Given the description of an element on the screen output the (x, y) to click on. 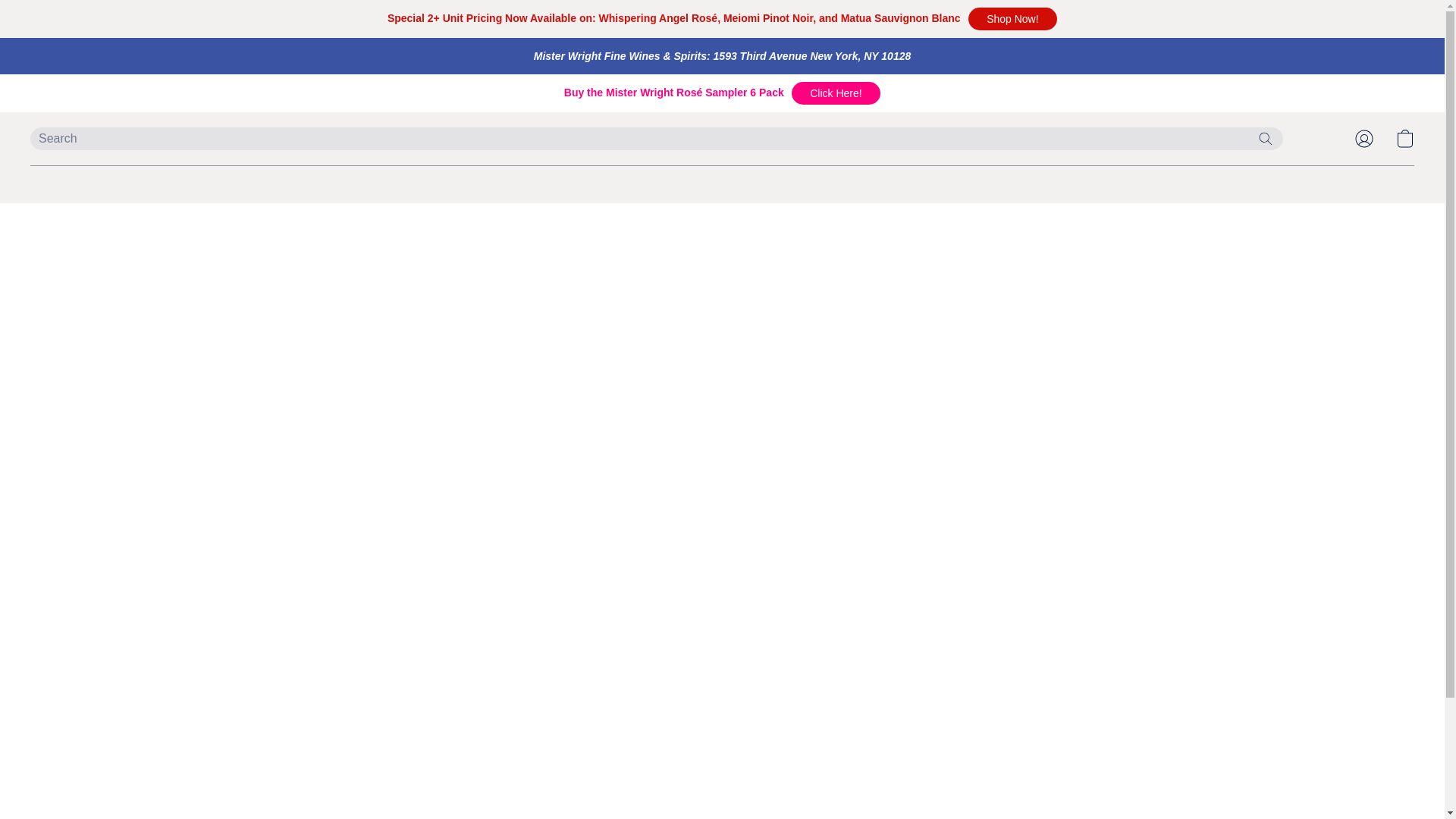
Shop Now! (1012, 18)
Click Here! (836, 92)
Go to your shopping cart (1404, 138)
